Given the description of an element on the screen output the (x, y) to click on. 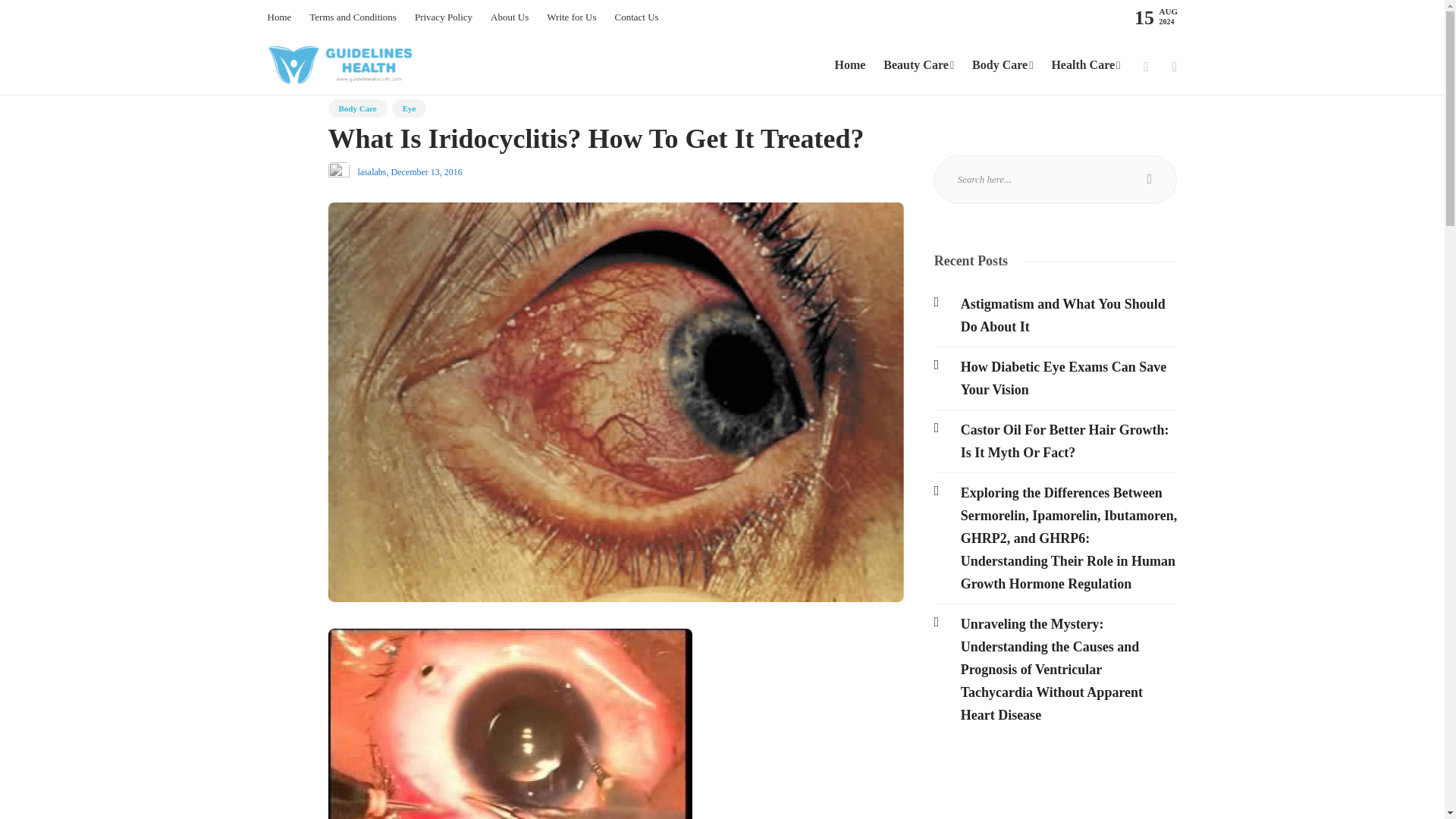
Search text (1055, 179)
Contact Us (636, 17)
Body Care (1002, 65)
Write for Us (571, 17)
Body Care (357, 108)
Eye (408, 108)
Privacy Policy (442, 17)
Terms and Conditions (352, 17)
About Us (509, 17)
December 13, 2016 (427, 172)
